Given the description of an element on the screen output the (x, y) to click on. 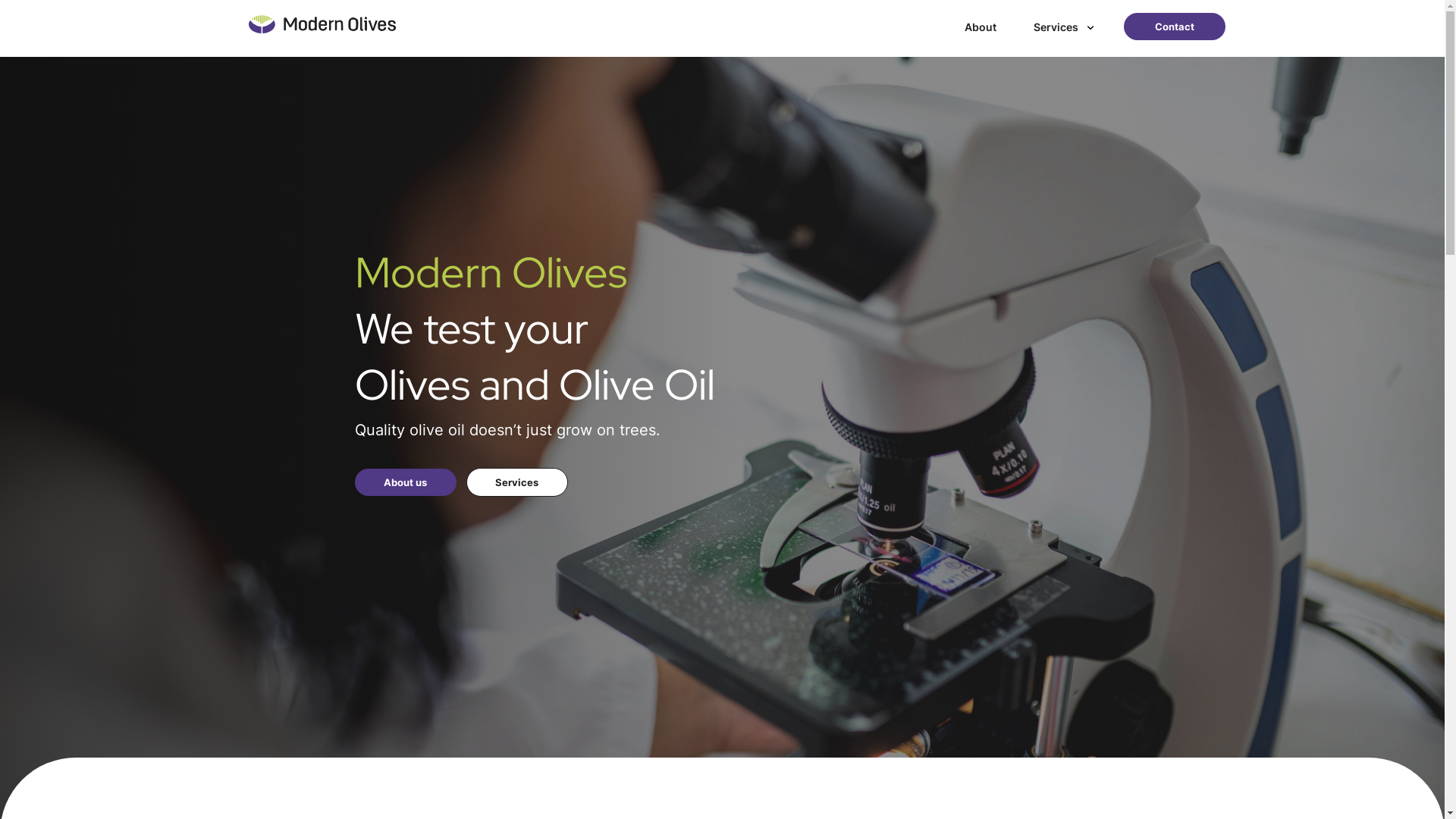
Services Element type: text (516, 481)
Services Element type: text (1063, 27)
Contact Element type: text (1174, 26)
About us Element type: text (405, 481)
About Element type: text (980, 27)
